Given the description of an element on the screen output the (x, y) to click on. 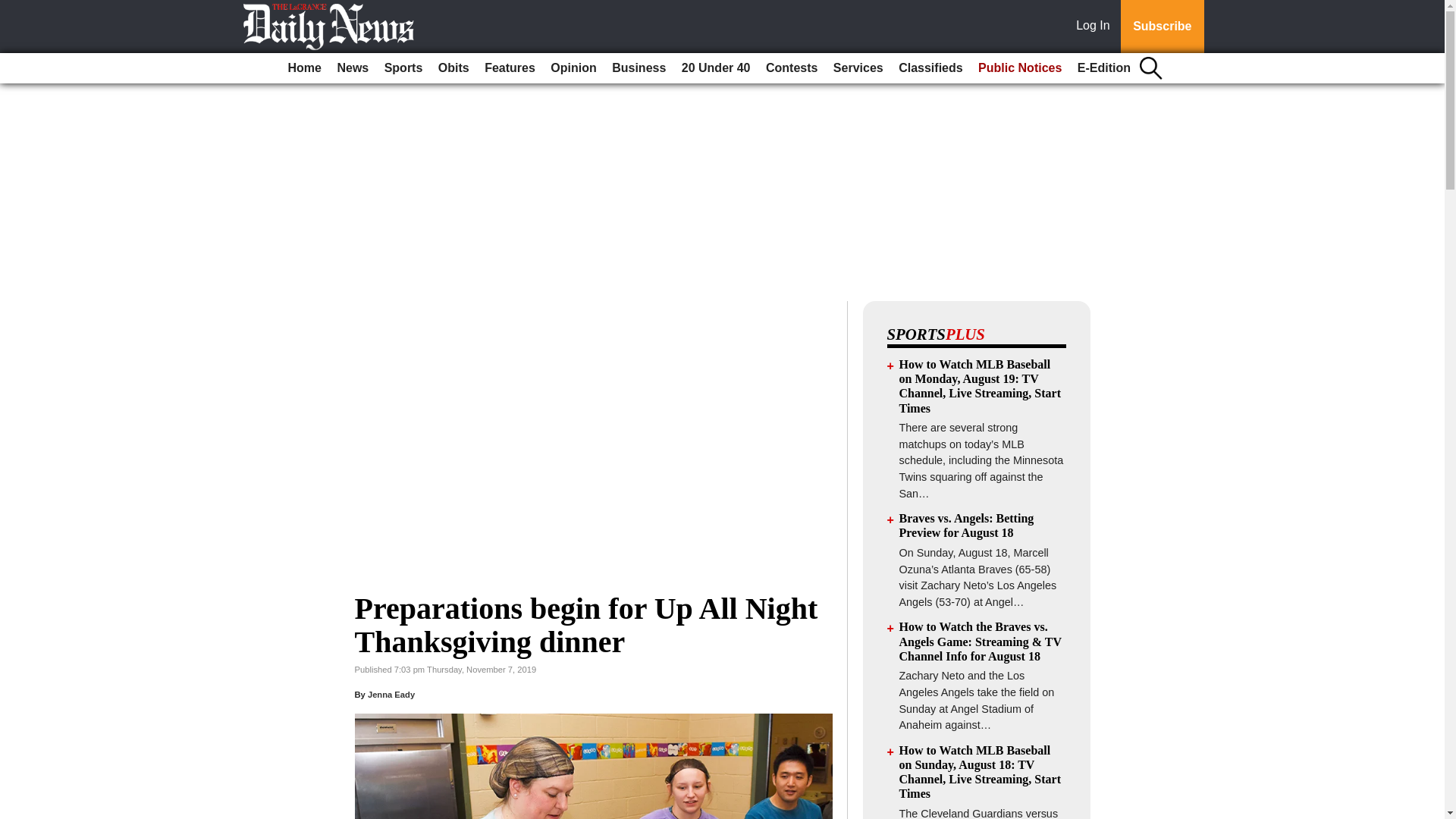
Services (858, 68)
Home (304, 68)
Sports (403, 68)
Jenna Eady (391, 694)
Classifieds (930, 68)
Opinion (573, 68)
E-Edition (1104, 68)
Public Notices (1019, 68)
